Given the description of an element on the screen output the (x, y) to click on. 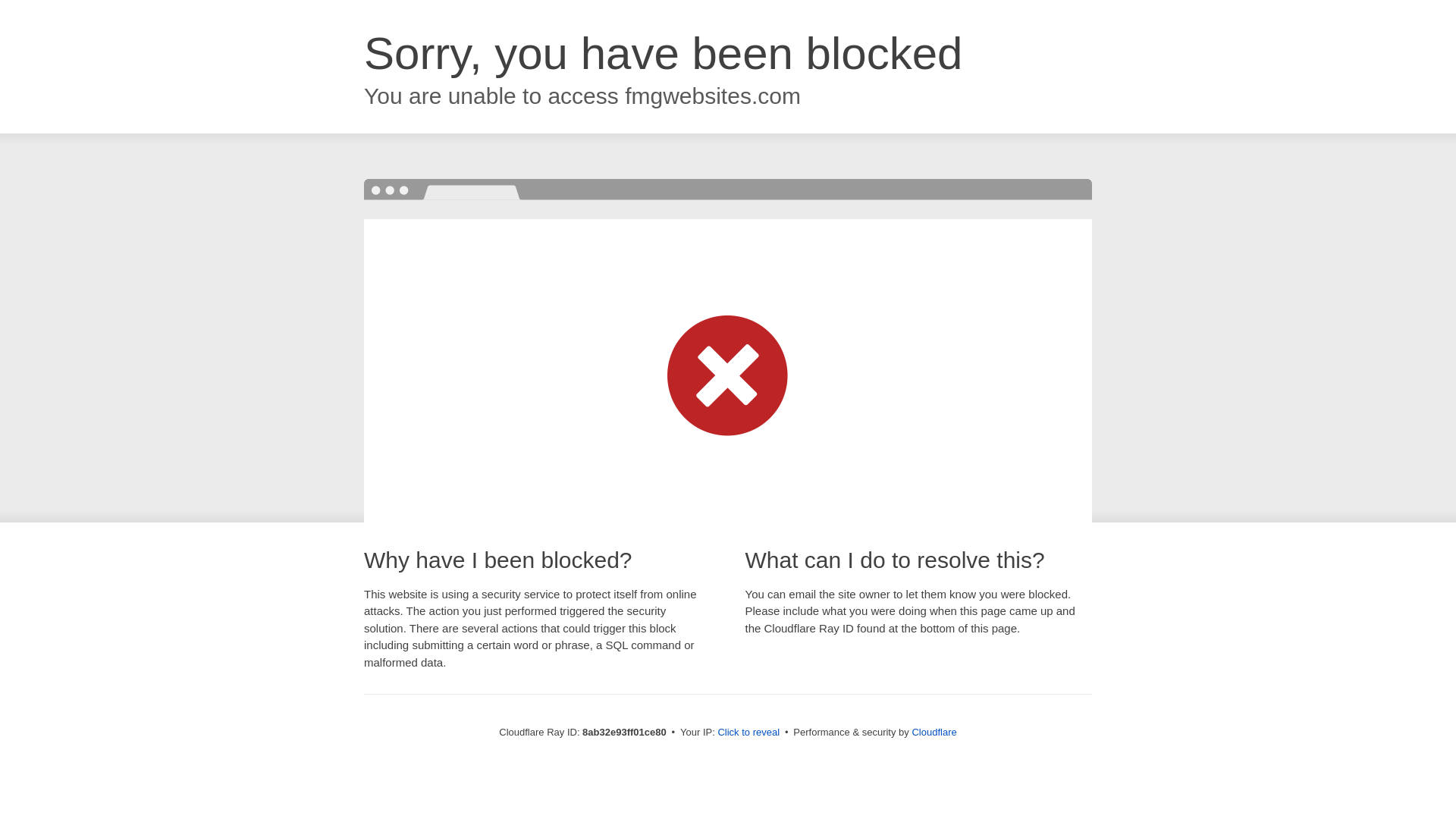
Cloudflare (933, 731)
Click to reveal (747, 732)
